Given the description of an element on the screen output the (x, y) to click on. 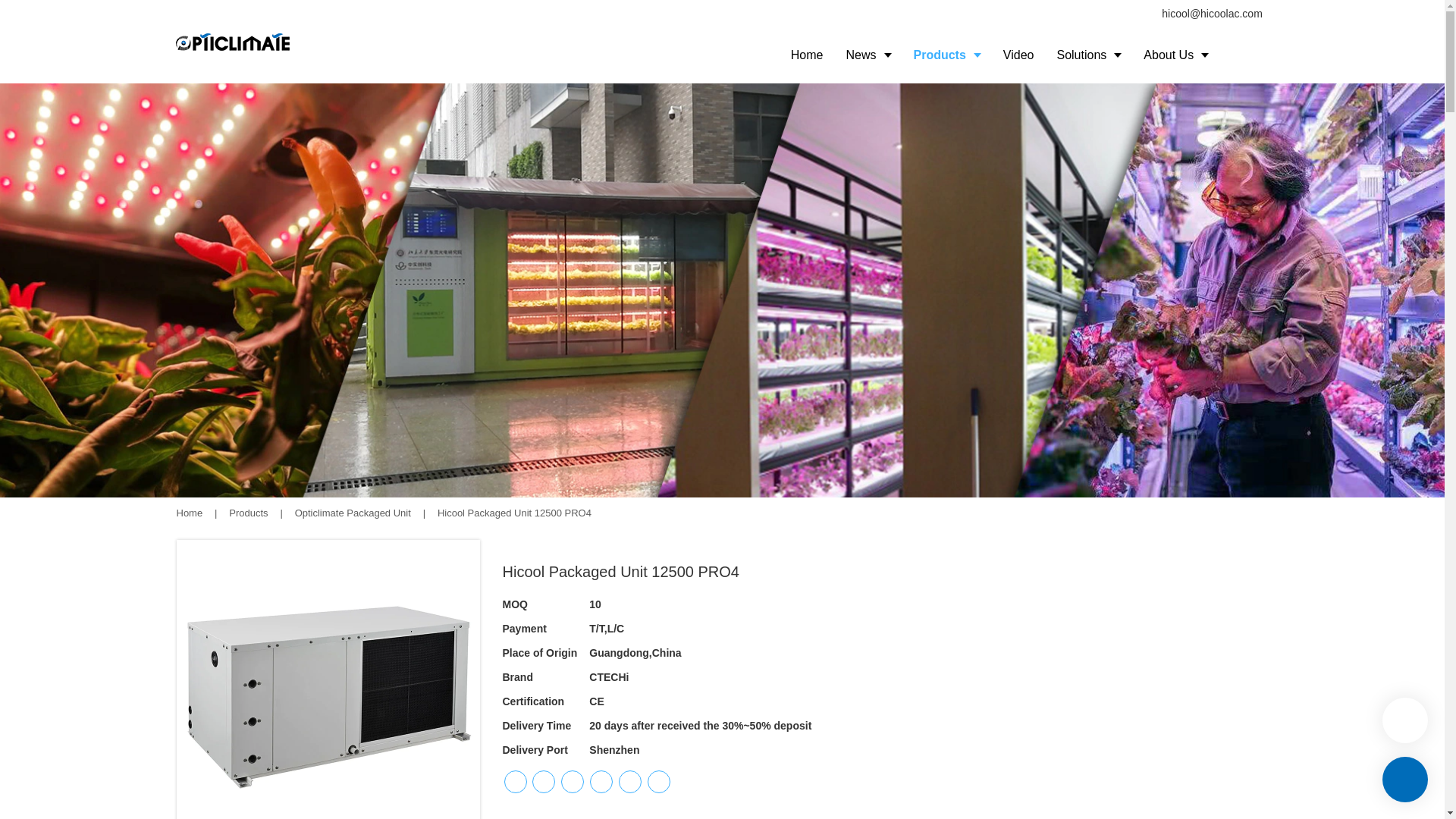
Home (806, 55)
About Us (1176, 55)
Home (189, 512)
Products (249, 512)
Solutions (1088, 55)
Opticlimate Packaged Unit (354, 512)
Products (946, 55)
Video (1018, 55)
News (867, 55)
